Given the description of an element on the screen output the (x, y) to click on. 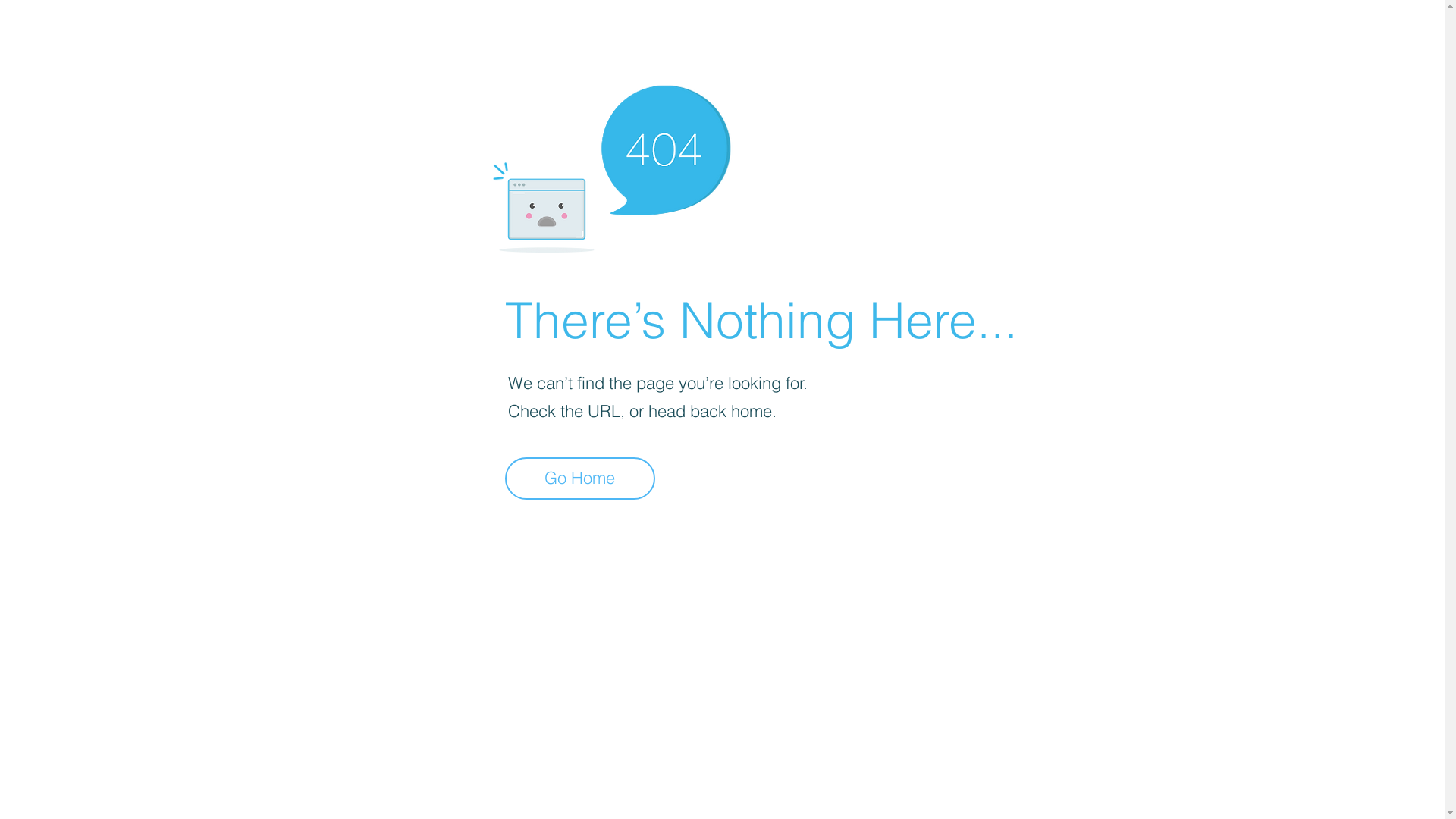
404-icon_2.png Element type: hover (610, 164)
Go Home Element type: text (580, 478)
